Given the description of an element on the screen output the (x, y) to click on. 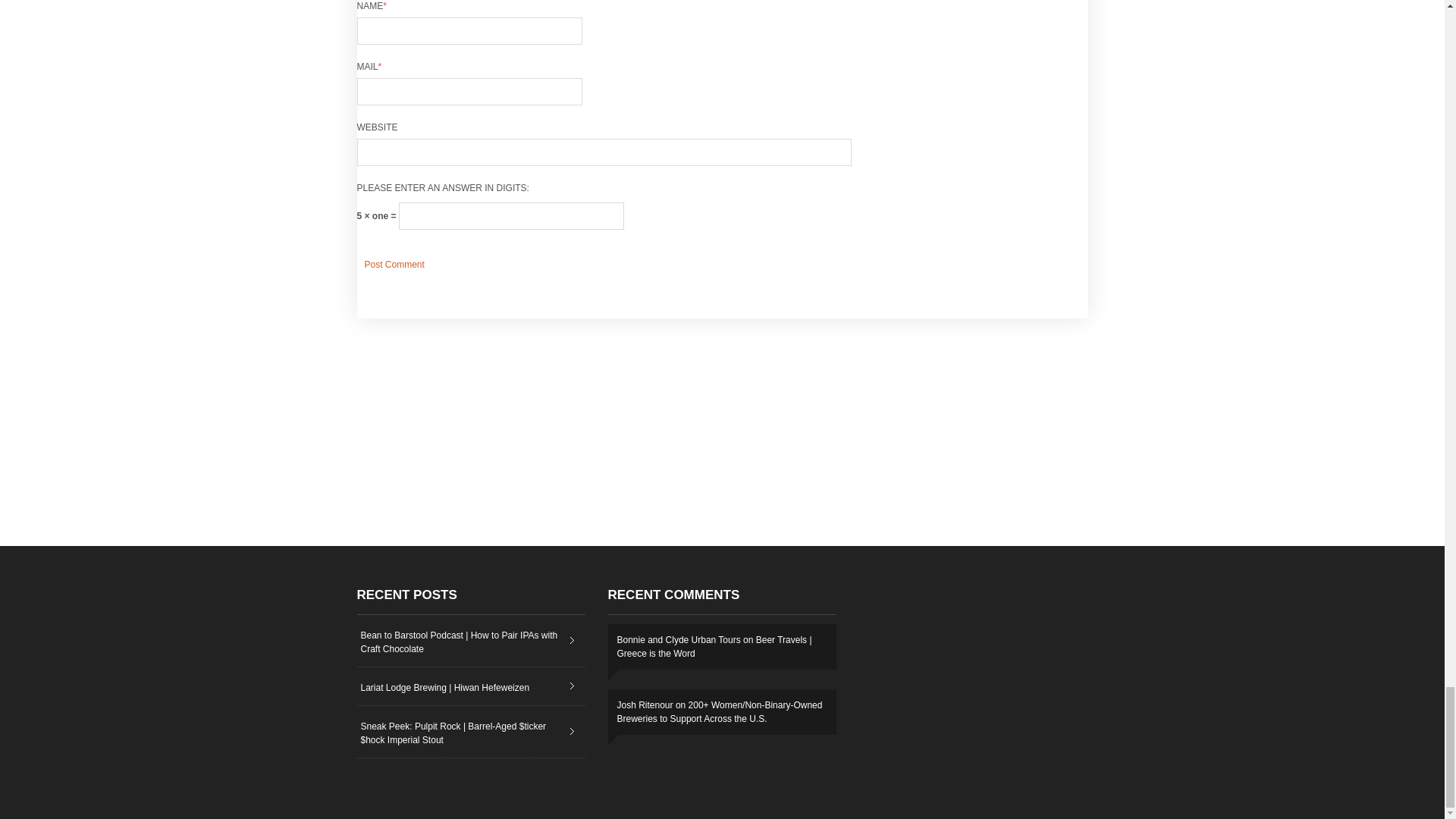
Post Comment (393, 264)
